Given the description of an element on the screen output the (x, y) to click on. 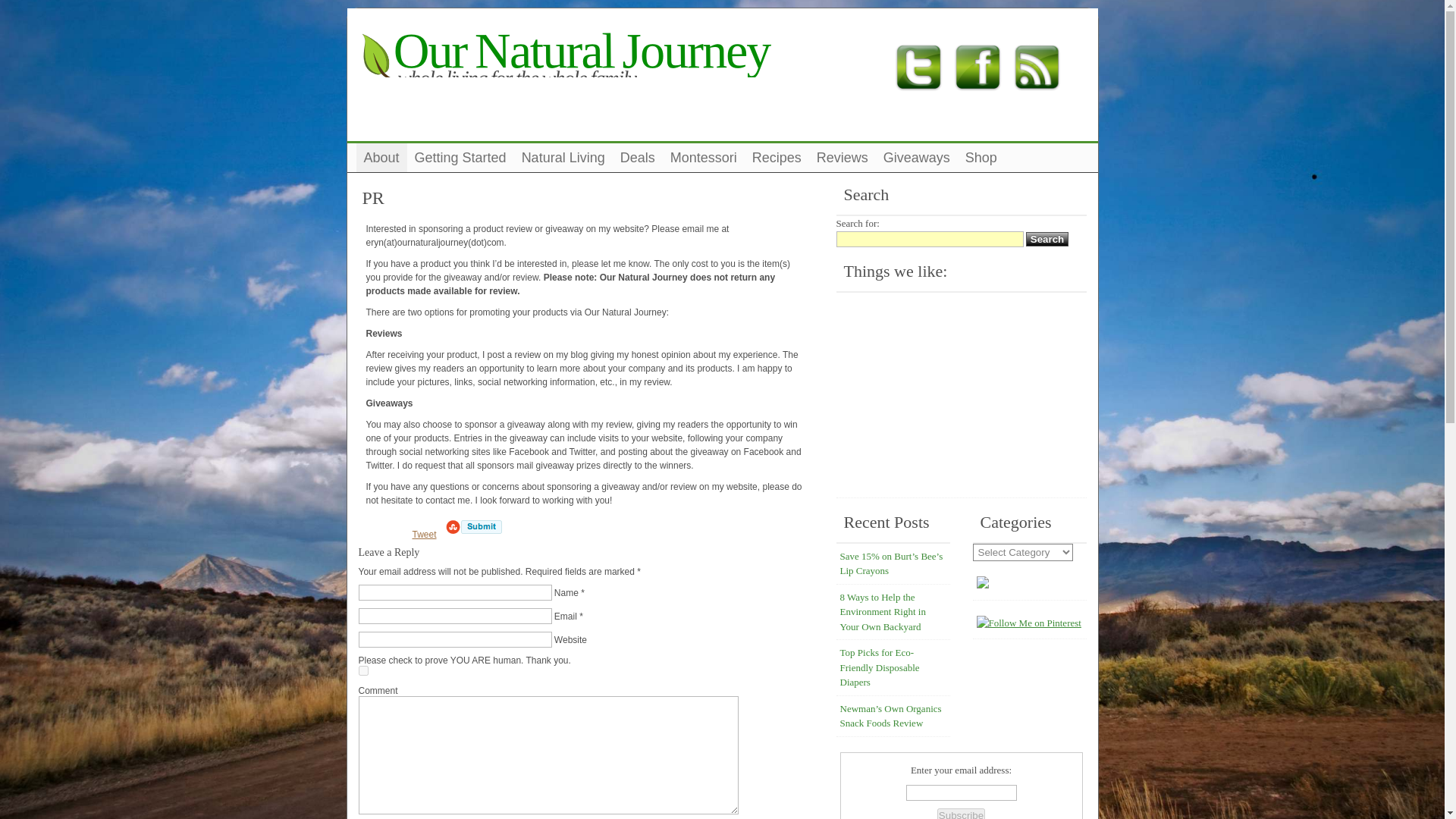
Getting Started (460, 157)
Search (1047, 238)
Reviews (842, 157)
Subscribe (961, 813)
About (381, 157)
Montessori (703, 157)
Deals (637, 157)
Recipes (776, 157)
Search (1047, 238)
Natural Living (562, 157)
